Given the description of an element on the screen output the (x, y) to click on. 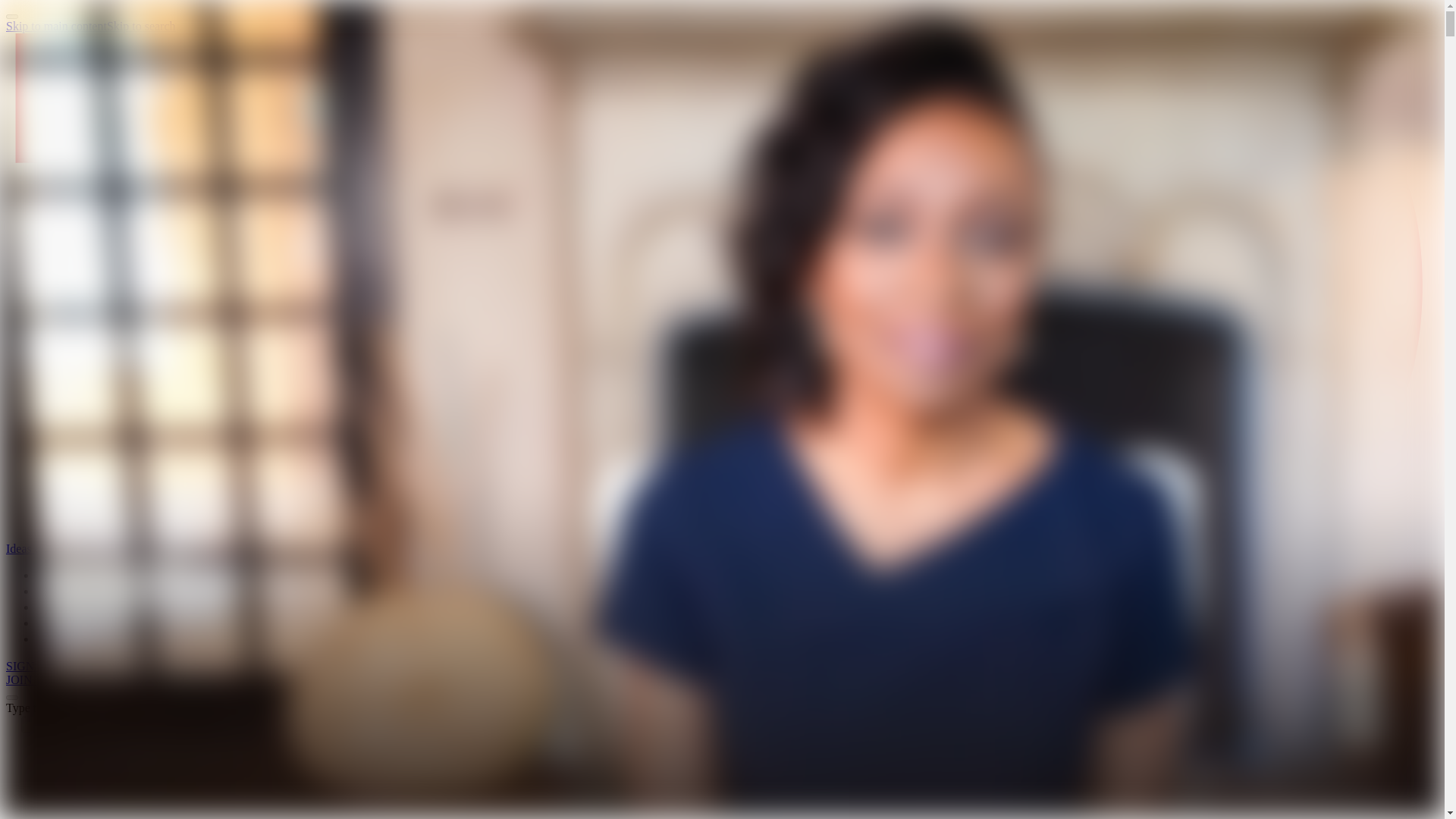
WATCH (60, 575)
DISCOVER (68, 591)
ATTEND (61, 607)
Skip to search (141, 25)
PARTICIPATE (74, 623)
ABOUT (59, 639)
Skip to main content (55, 25)
